Given the description of an element on the screen output the (x, y) to click on. 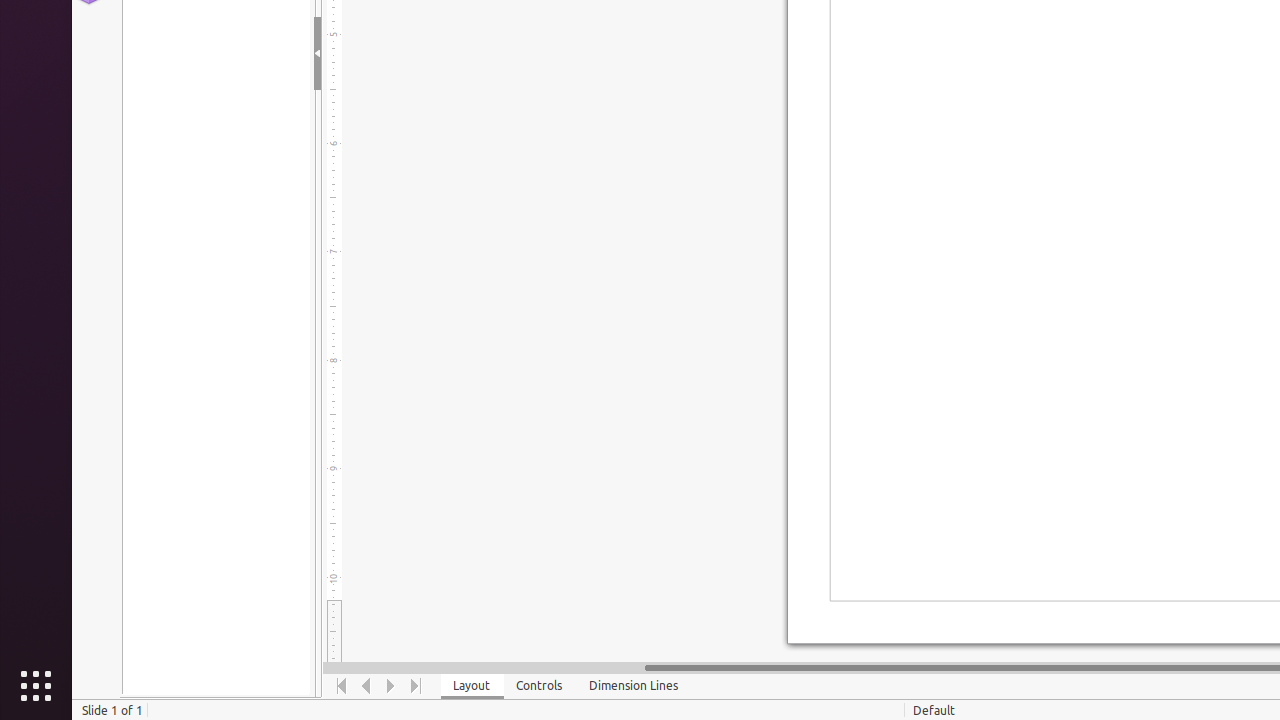
Move Left Element type: push-button (366, 686)
Layout Element type: page-tab (472, 686)
Show Applications Element type: toggle-button (36, 686)
